Given the description of an element on the screen output the (x, y) to click on. 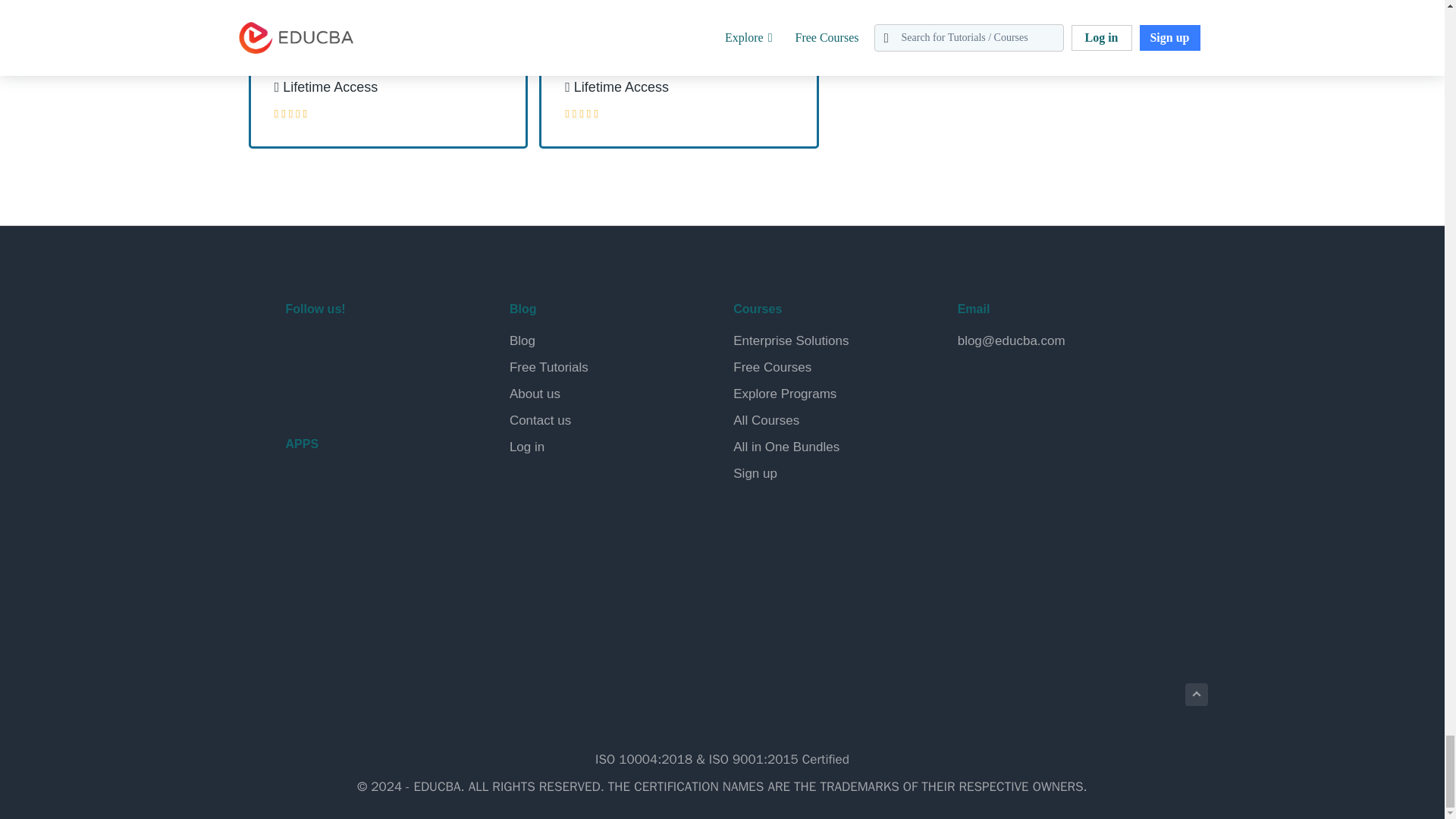
EDUCBA iOS App (360, 562)
EDUCBA Instagram (408, 349)
EDUCBA Youtube (300, 387)
EDUCBA Twitter (336, 349)
EDUCBA LinkedIN (371, 349)
EDUCBA Udemy (371, 387)
EDUCBA Coursera (336, 387)
EDUCBA Facebook (300, 349)
EDUCBA Android App (360, 498)
